Given the description of an element on the screen output the (x, y) to click on. 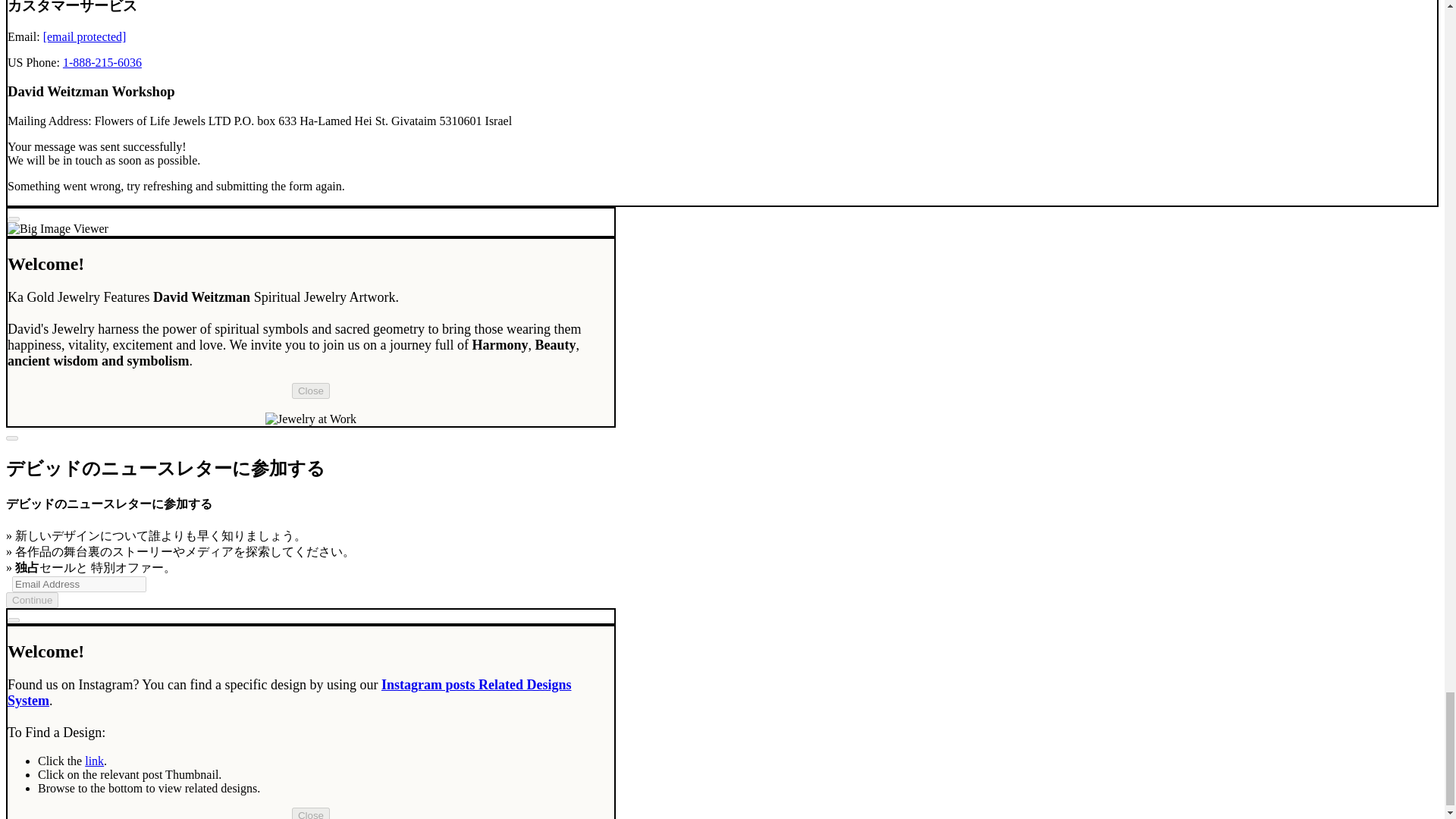
Jewelry at Work (310, 418)
Big Image Viewer (57, 228)
